Given the description of an element on the screen output the (x, y) to click on. 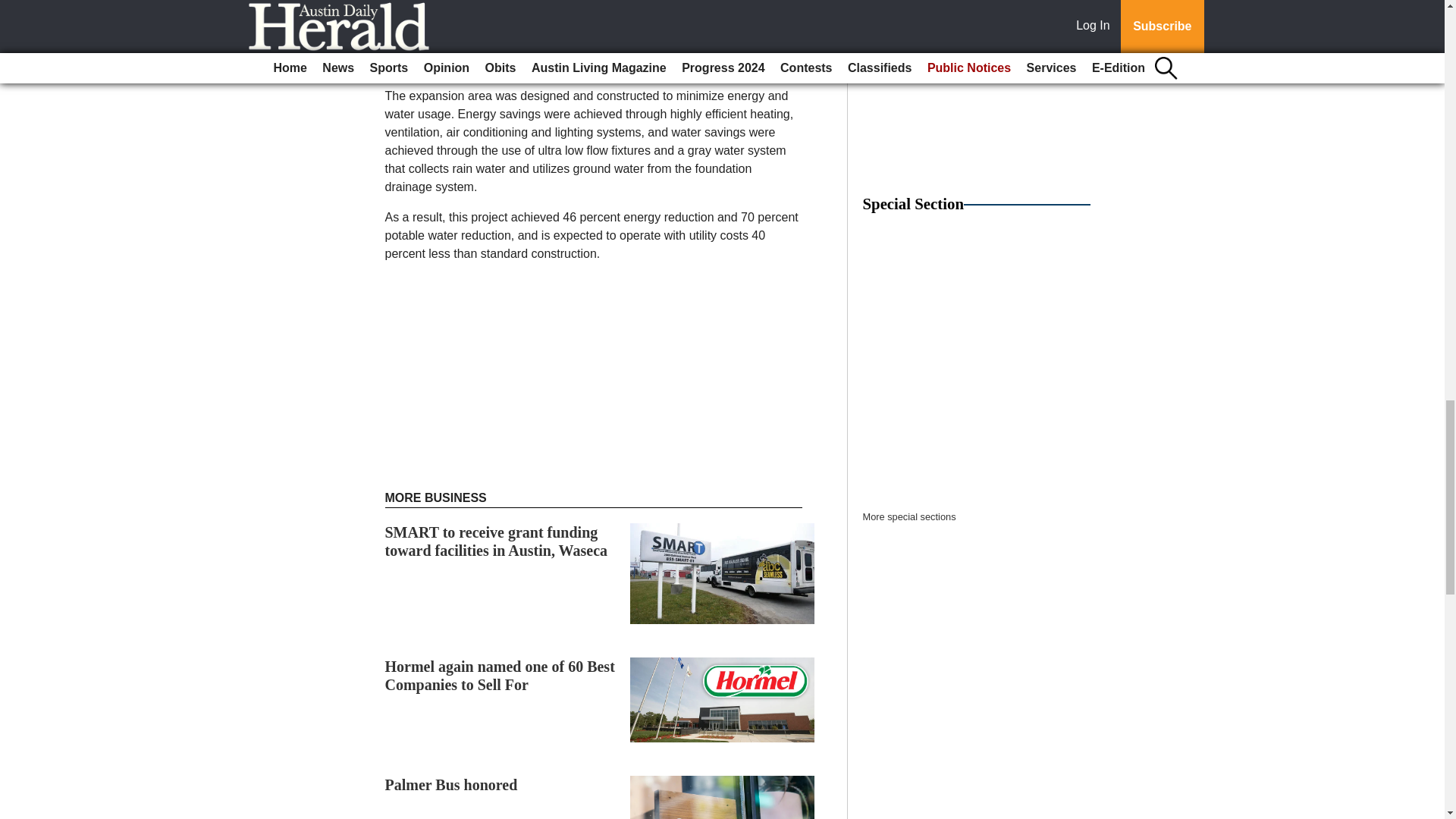
Hormel again named one of 60 Best Companies to Sell For (499, 675)
Palmer Bus honored (451, 784)
